Given the description of an element on the screen output the (x, y) to click on. 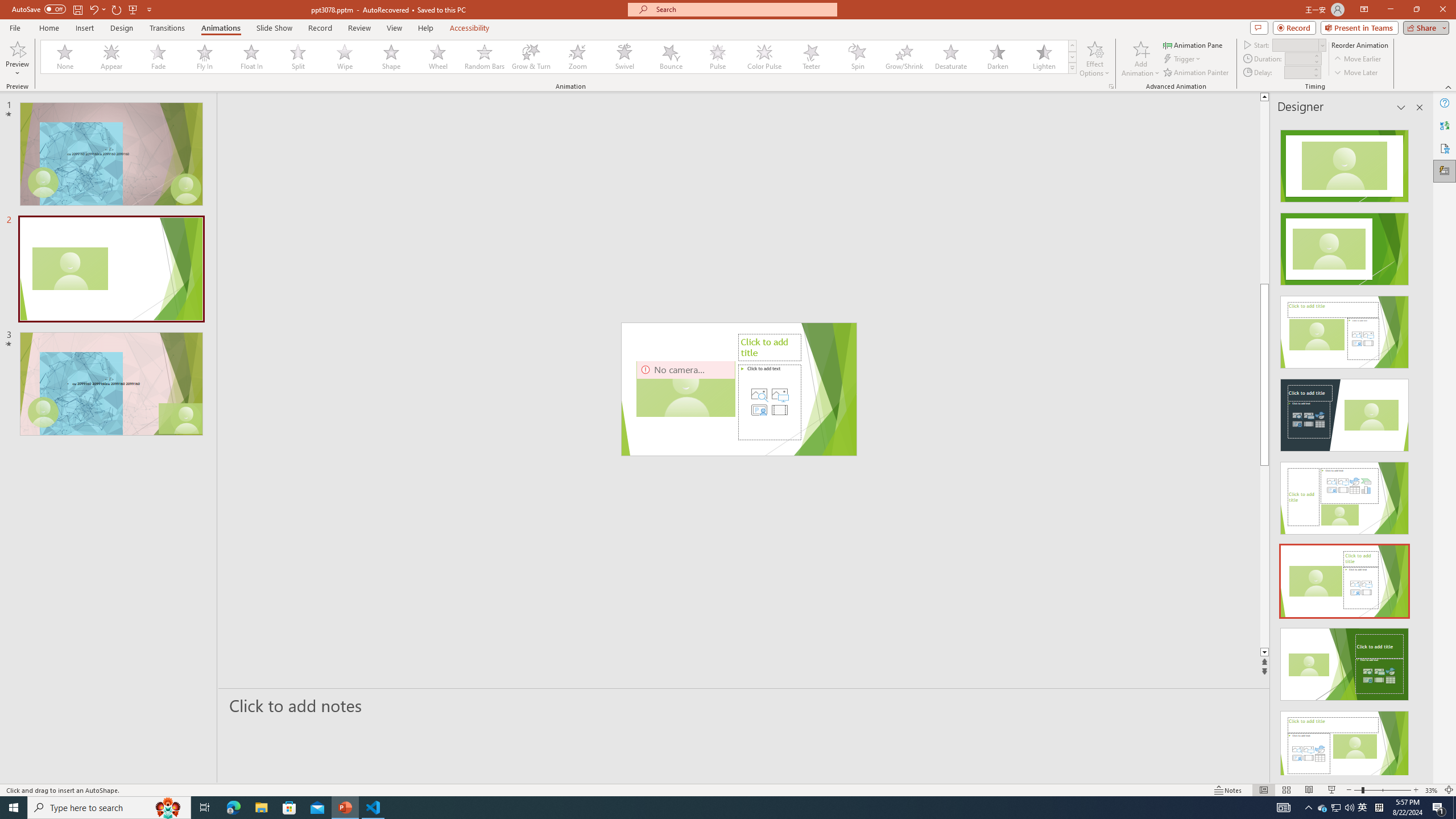
Wheel (437, 56)
